Given the description of an element on the screen output the (x, y) to click on. 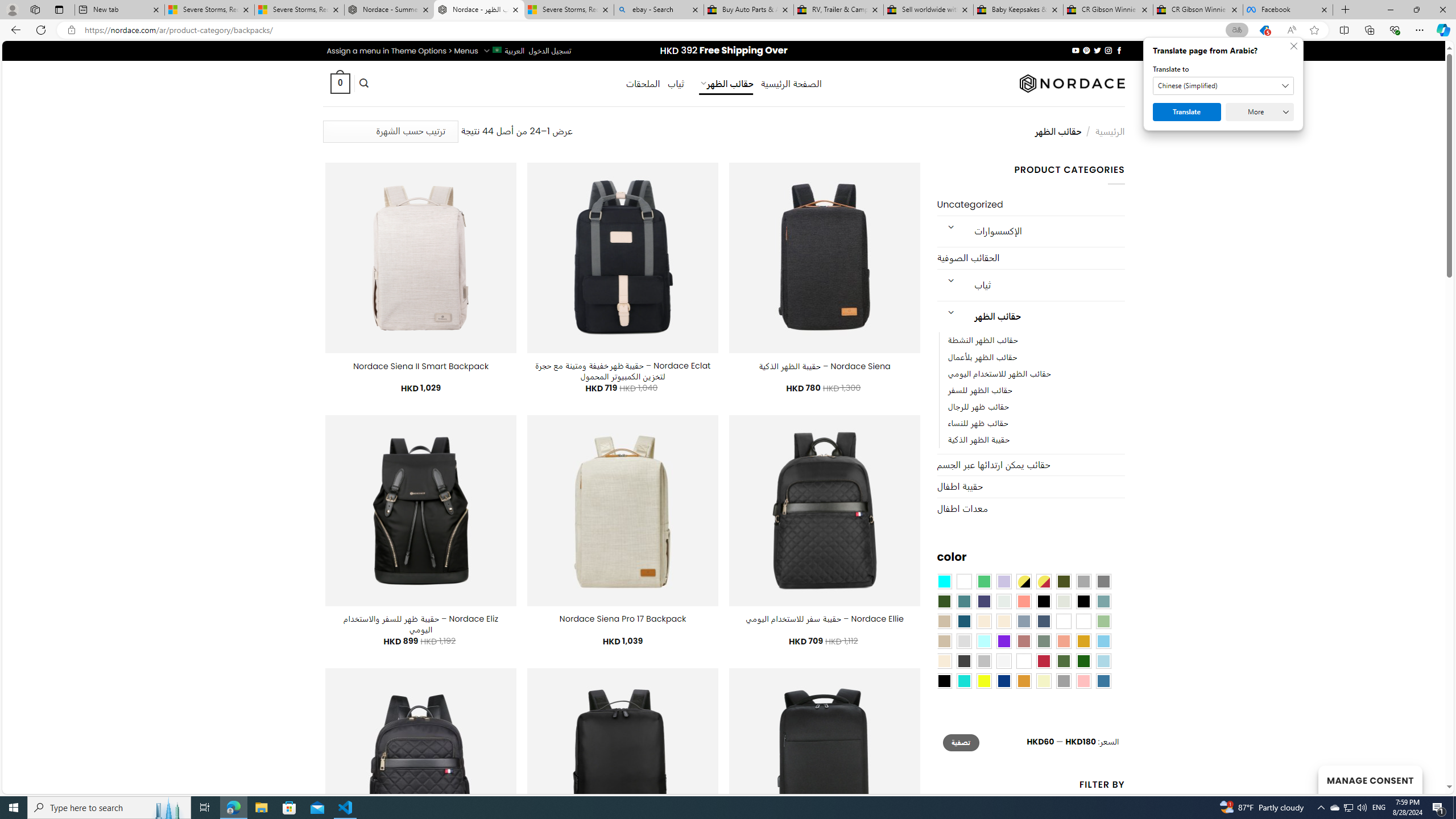
Yellow-Red (1043, 581)
All Black (1043, 601)
Forest (944, 601)
